Given the description of an element on the screen output the (x, y) to click on. 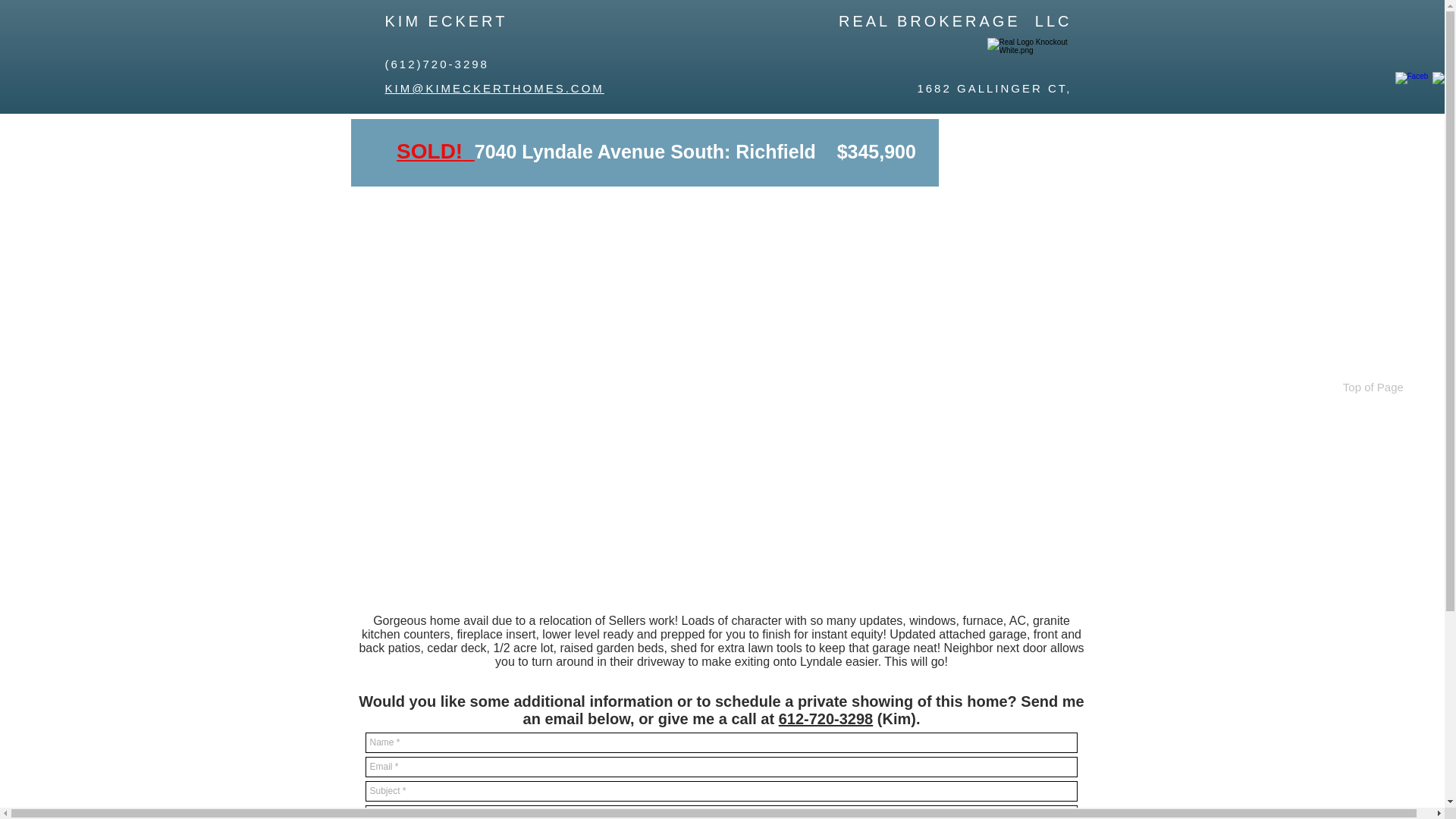
Top of Page (1371, 386)
7040 Lyndale Avenue South: Richfield (644, 151)
SOLD! (429, 150)
612-720-3298 (825, 718)
